Given the description of an element on the screen output the (x, y) to click on. 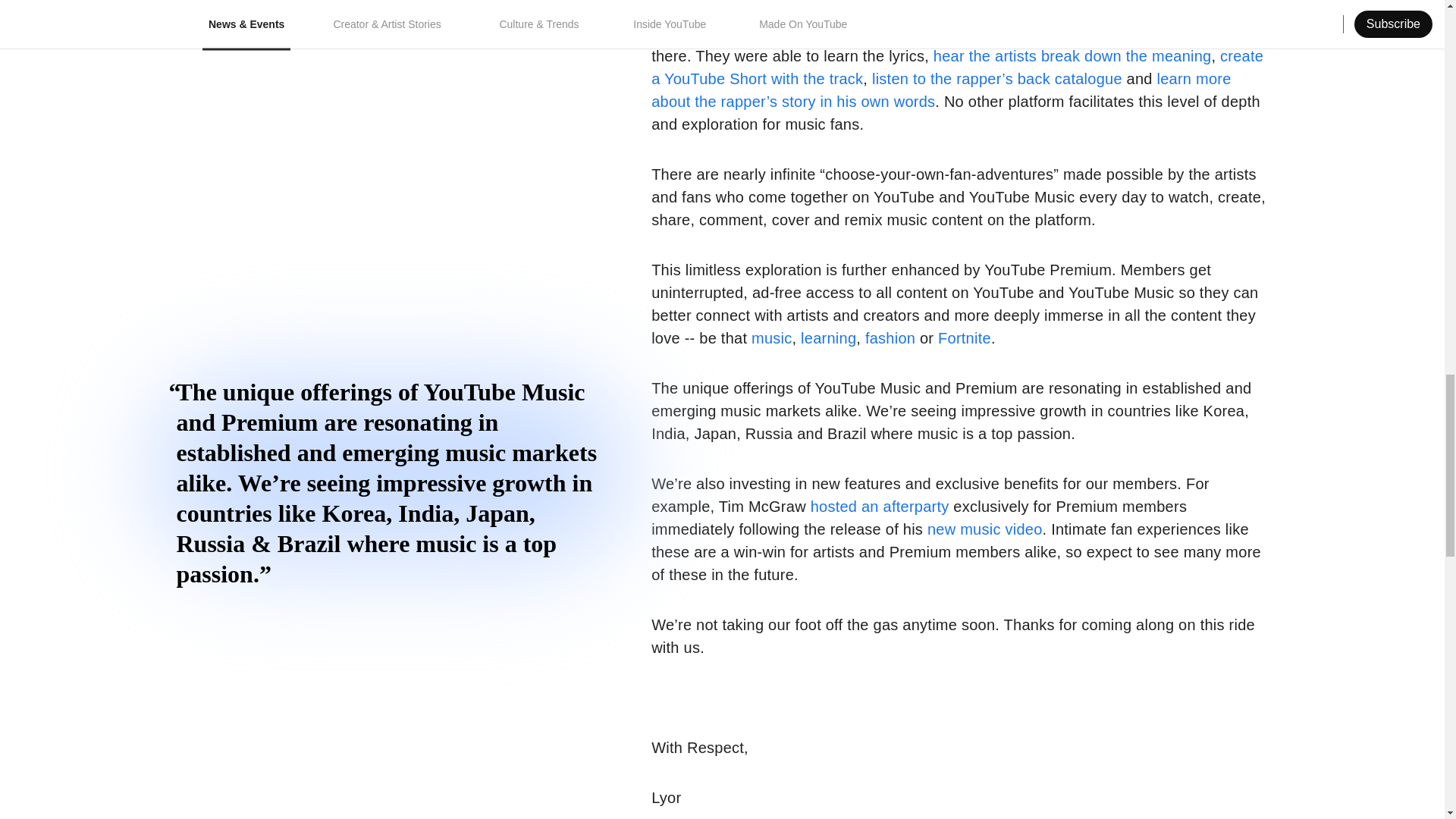
learning (828, 338)
Fortnite (964, 338)
fashion (889, 338)
hear the artists break down the meaning (1072, 55)
hosted an afterparty (879, 506)
music (771, 338)
new music video (984, 528)
create a YouTube Short with the track (956, 66)
